Given the description of an element on the screen output the (x, y) to click on. 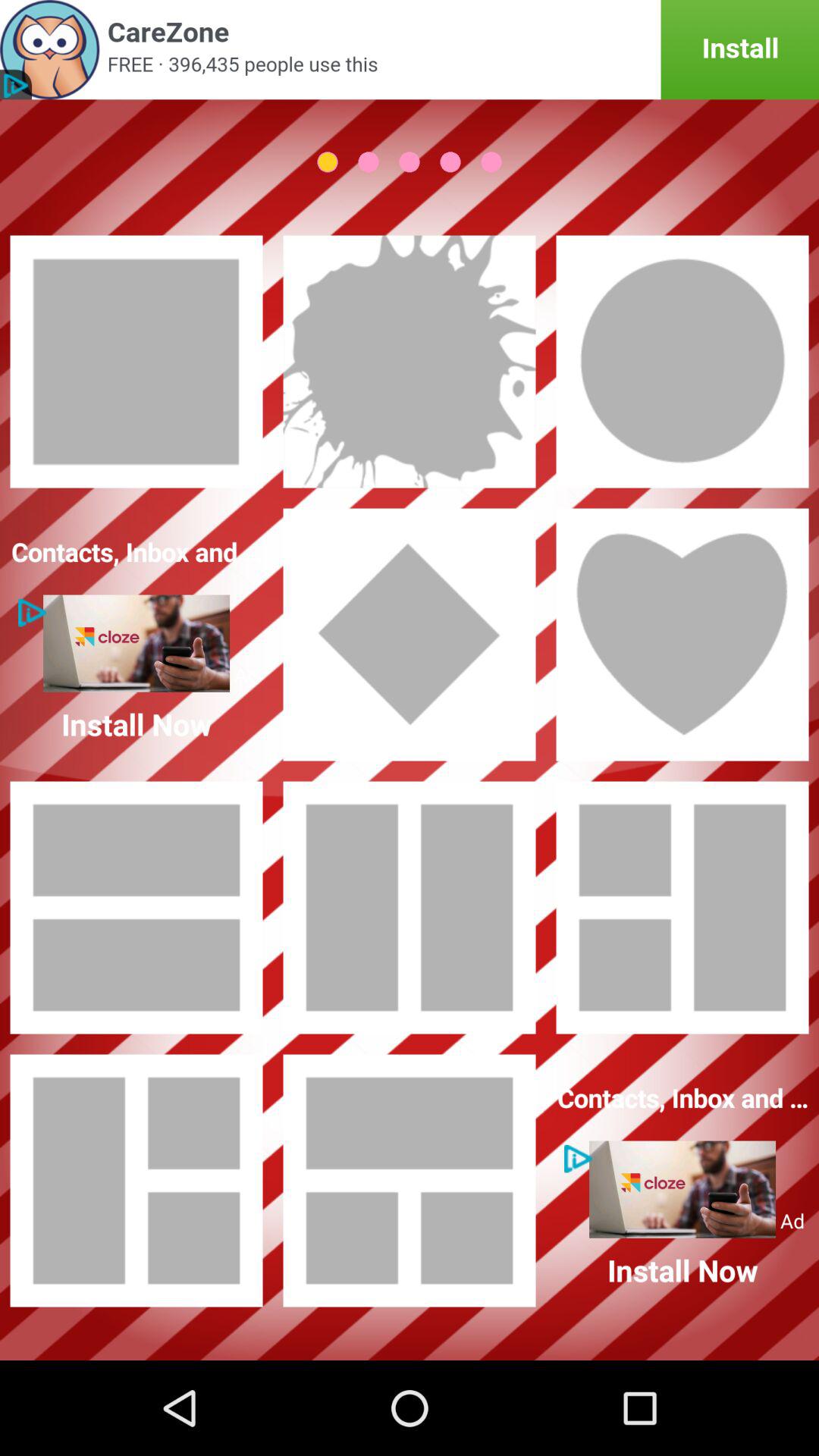
click to select shape (136, 907)
